Given the description of an element on the screen output the (x, y) to click on. 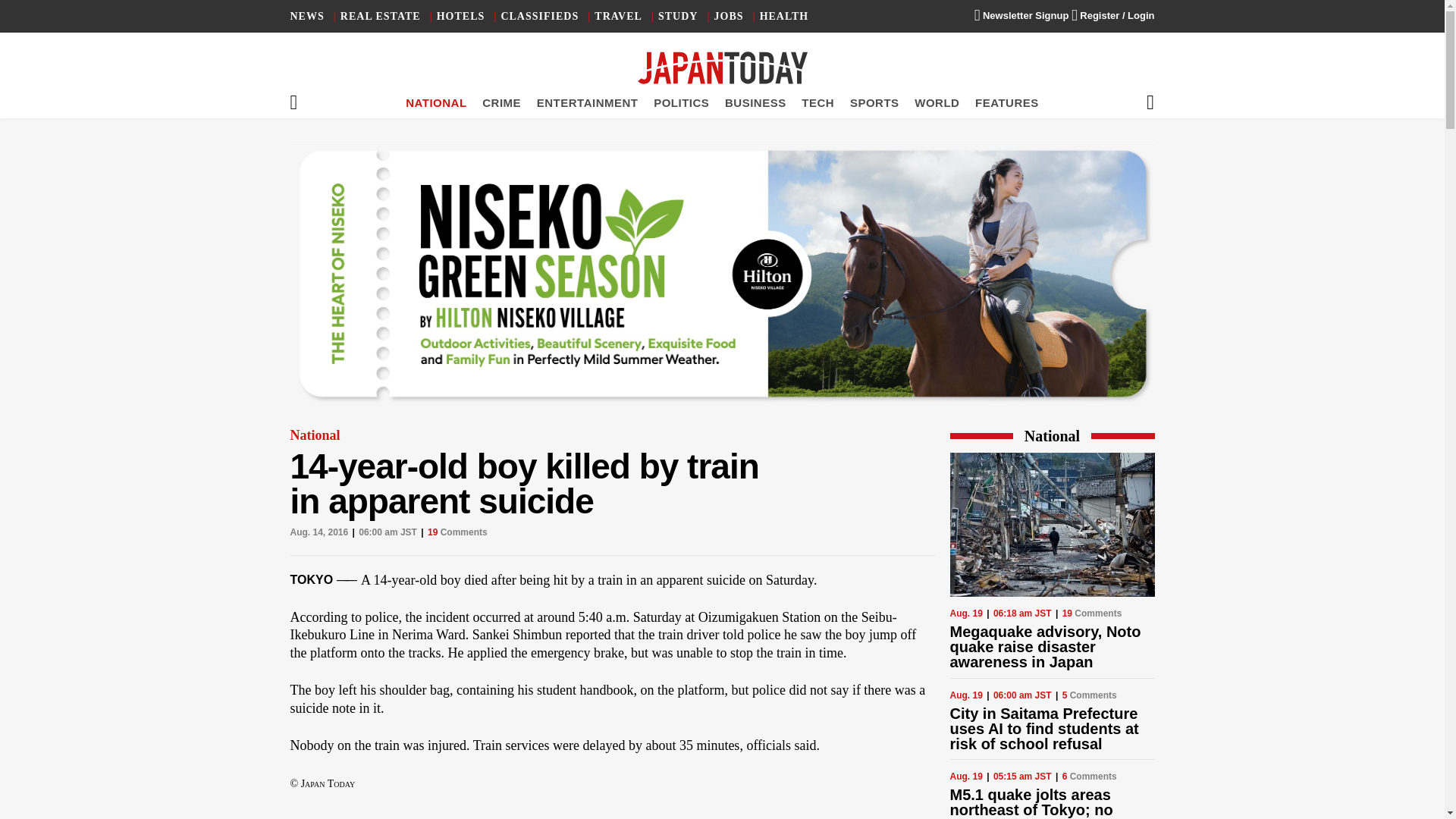
TRAVEL (618, 16)
Newsletter Signup (1021, 15)
WORLD (936, 102)
NATIONAL (435, 102)
CLASSIFIEDS (539, 16)
SPORTS (874, 102)
HOTELS (460, 16)
